Given the description of an element on the screen output the (x, y) to click on. 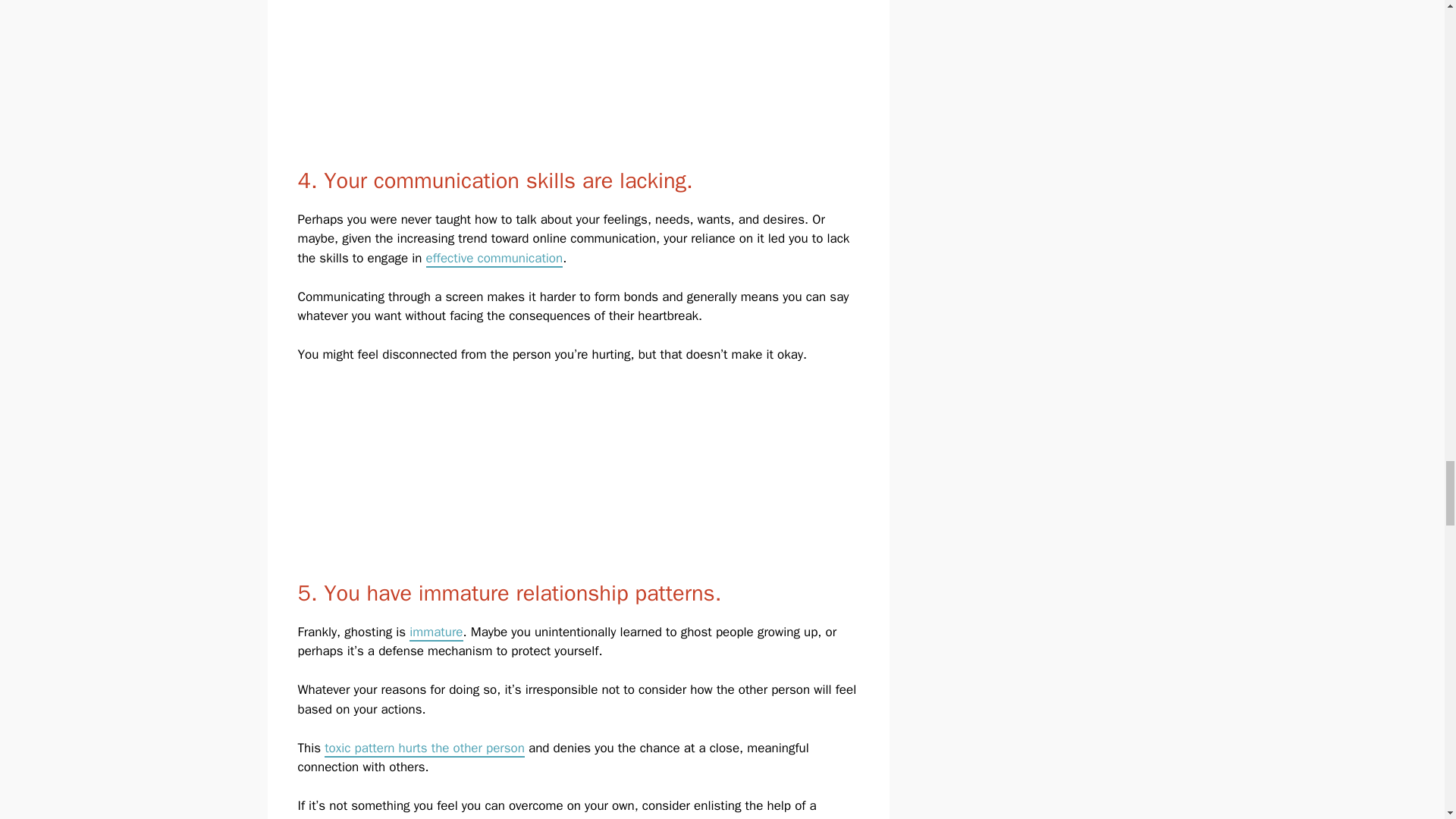
effective communication (494, 258)
toxic pattern hurts the other person (424, 748)
immature (436, 632)
